Given the description of an element on the screen output the (x, y) to click on. 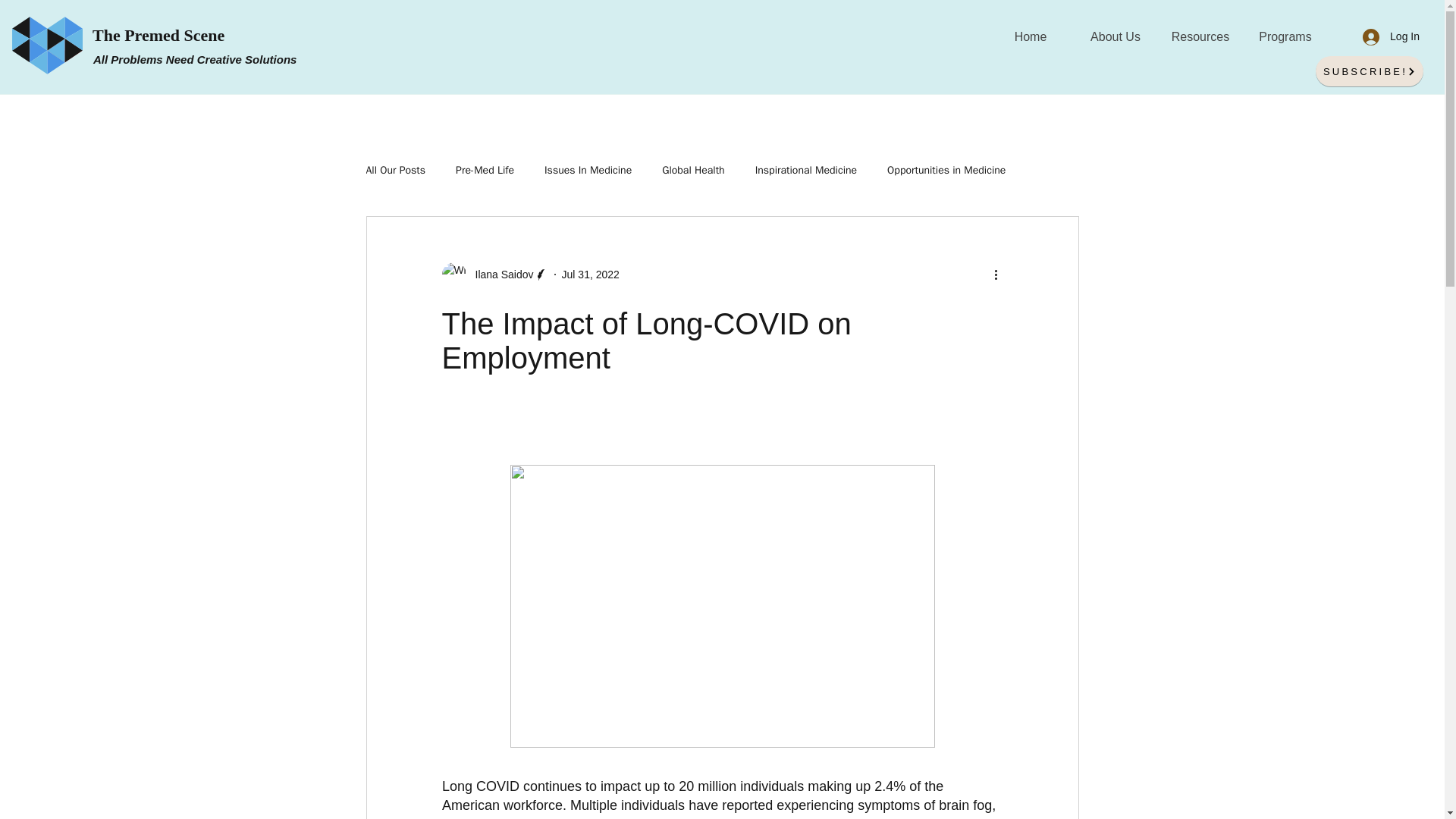
About Us (1114, 37)
Resources (1199, 37)
Home (1029, 37)
Pre-Med Life (484, 170)
Ilana Saidov (498, 274)
Log In (1390, 36)
Jul 31, 2022 (591, 274)
SUBSCRIBE! (1369, 71)
Opportunities in Medicine (946, 170)
Global Health (692, 170)
